Given the description of an element on the screen output the (x, y) to click on. 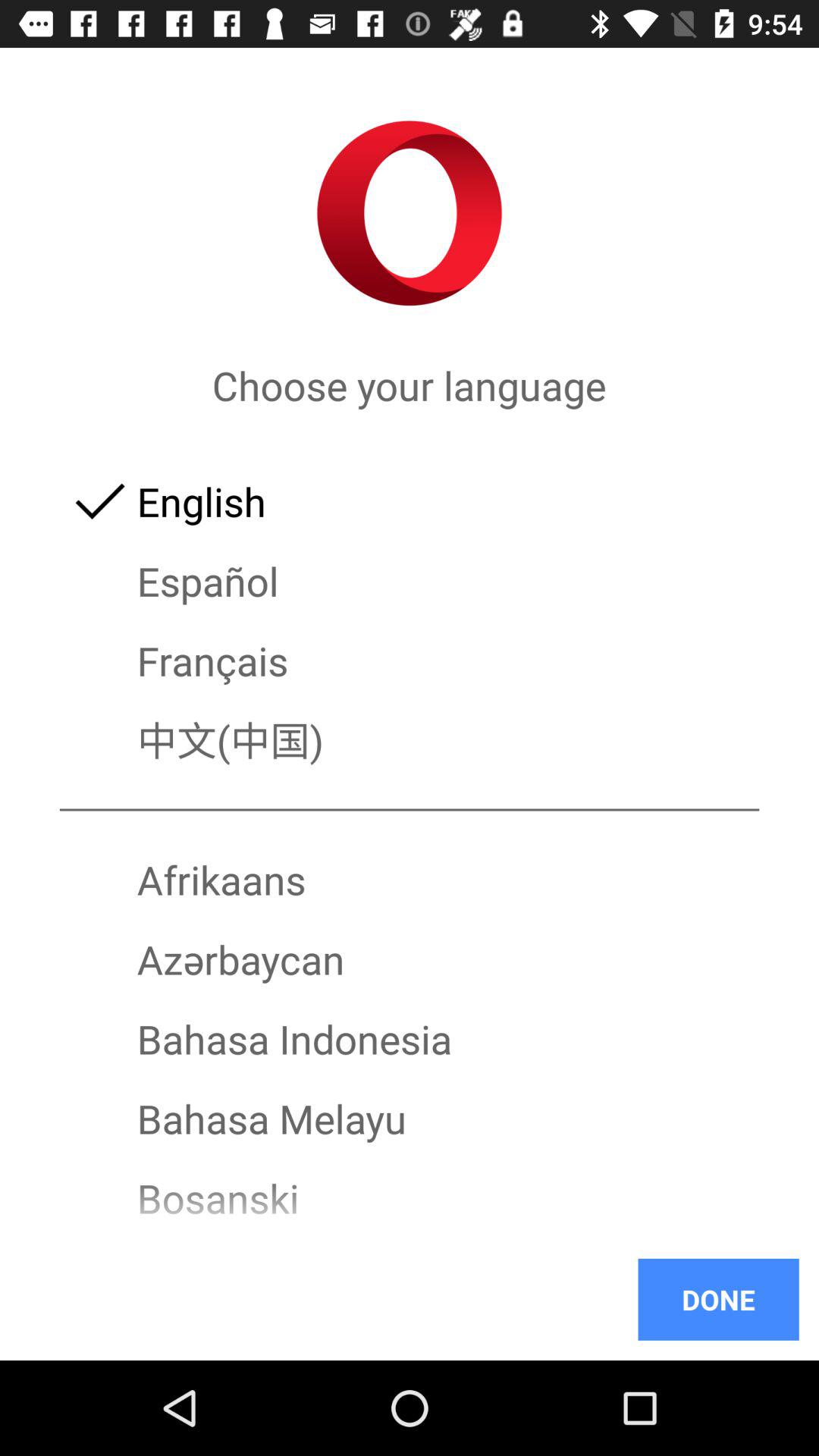
launch icon above the done (409, 1238)
